Given the description of an element on the screen output the (x, y) to click on. 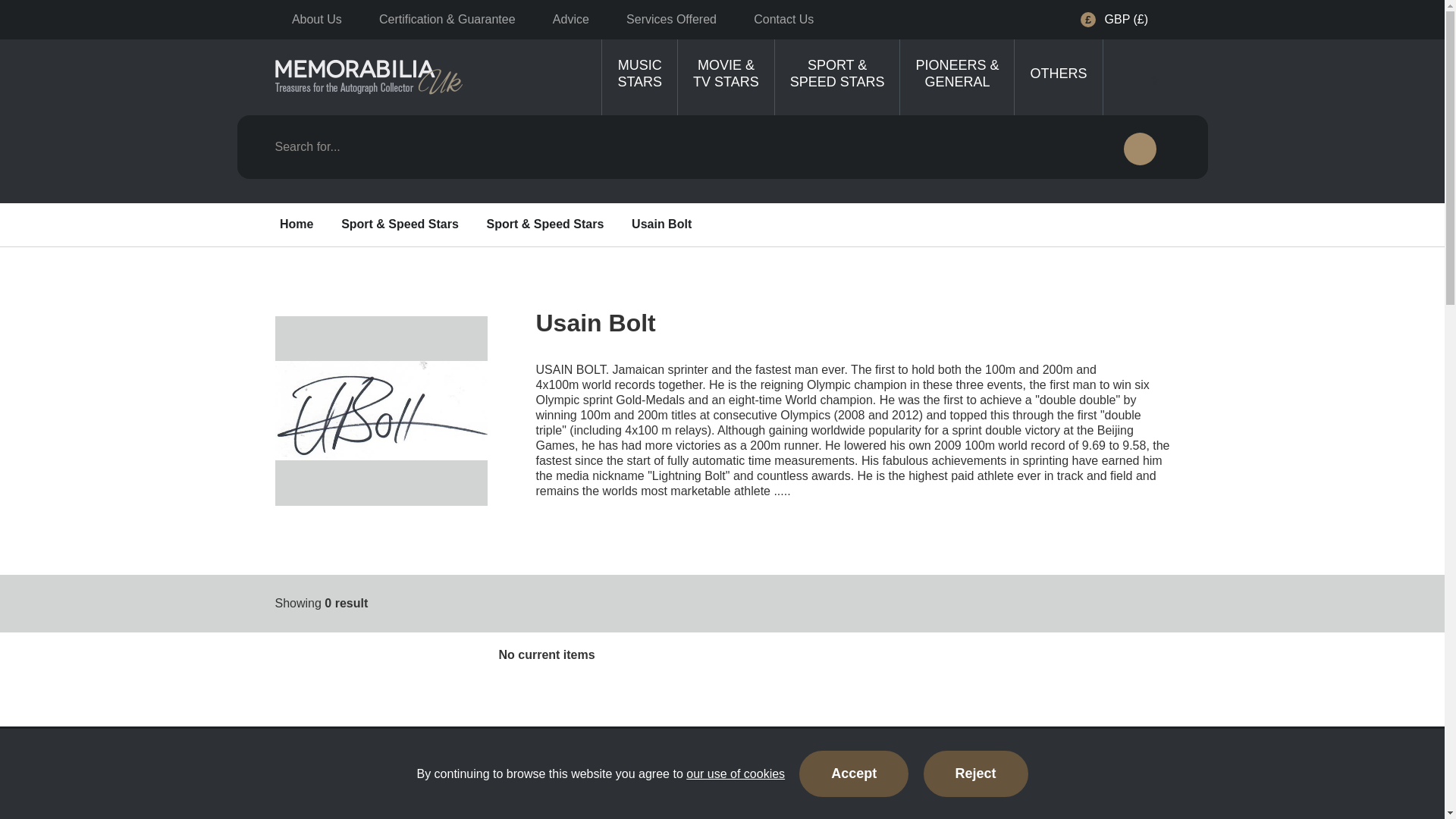
Services Offered (671, 18)
About Us (316, 18)
Advice (570, 18)
Contact Us (783, 18)
